Given the description of an element on the screen output the (x, y) to click on. 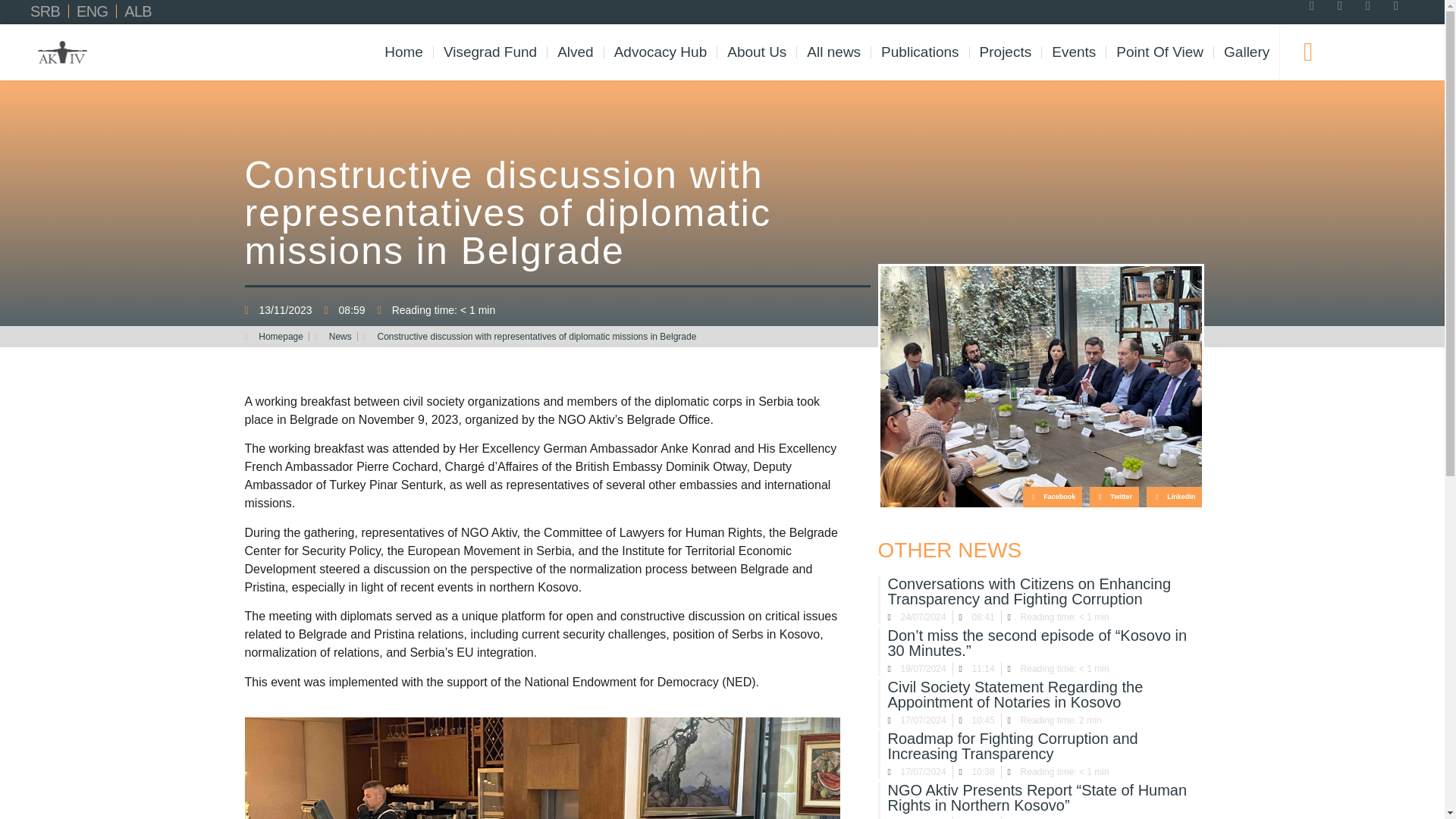
Visegrad Fund (490, 52)
Advocacy Hub (660, 52)
Events (1073, 52)
Point Of View (1159, 52)
SRB (44, 11)
Alved (575, 52)
About Us (756, 52)
Gallery (1246, 52)
